Given the description of an element on the screen output the (x, y) to click on. 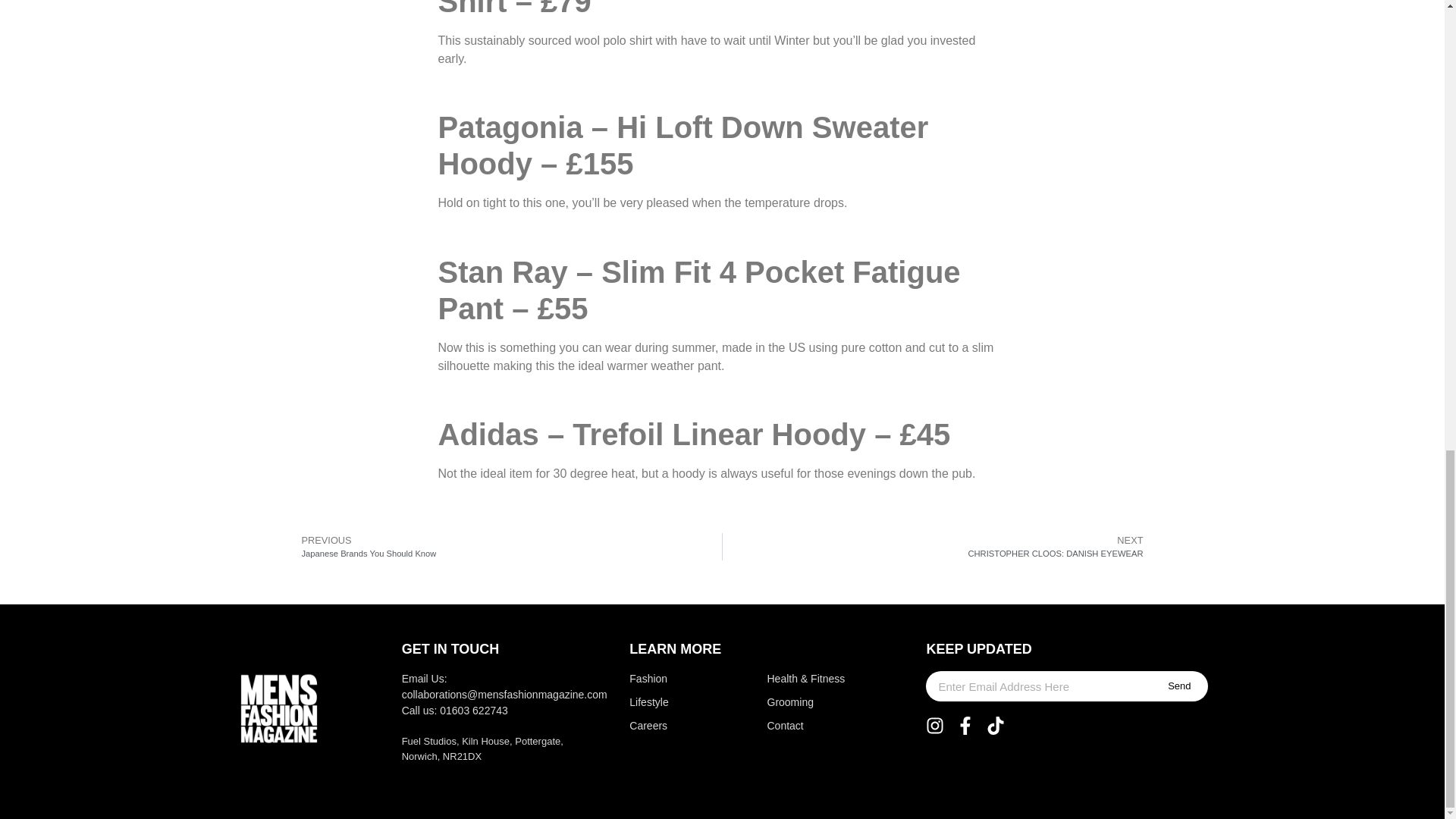
Grooming (807, 702)
Fashion (667, 678)
Contact (807, 725)
Lifestyle (667, 702)
Send (938, 546)
